Given the description of an element on the screen output the (x, y) to click on. 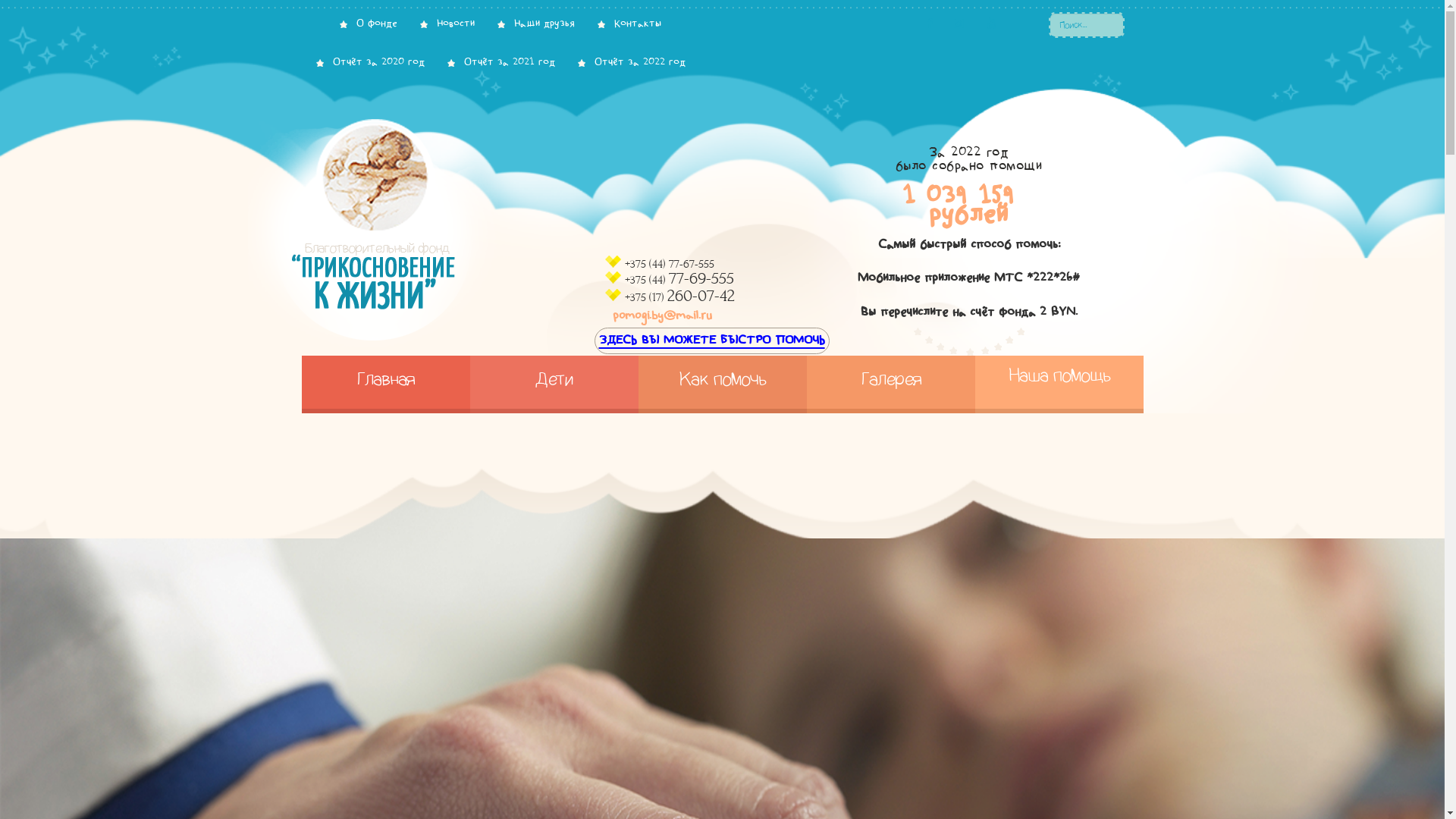
pomogi.by Element type: hover (425, 232)
